Given the description of an element on the screen output the (x, y) to click on. 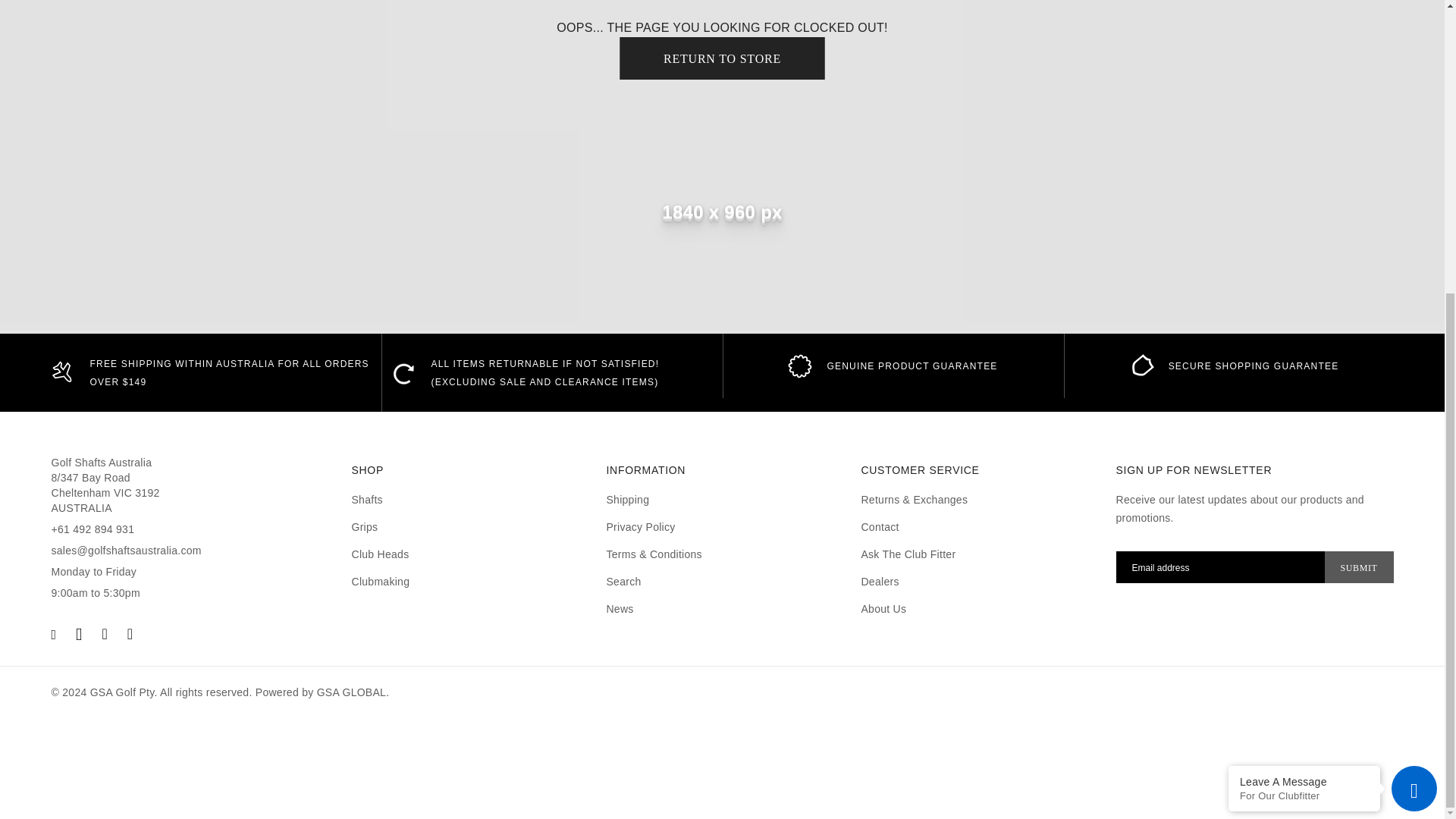
Search (622, 581)
Clubmaking (381, 581)
YouTube (130, 633)
Privacy Policy (640, 526)
Facebook (53, 633)
Grips (365, 526)
Club Heads (380, 553)
Instagram (103, 633)
Shafts (367, 499)
Submit (1358, 567)
Shipping (627, 499)
Twitter (78, 633)
